Given the description of an element on the screen output the (x, y) to click on. 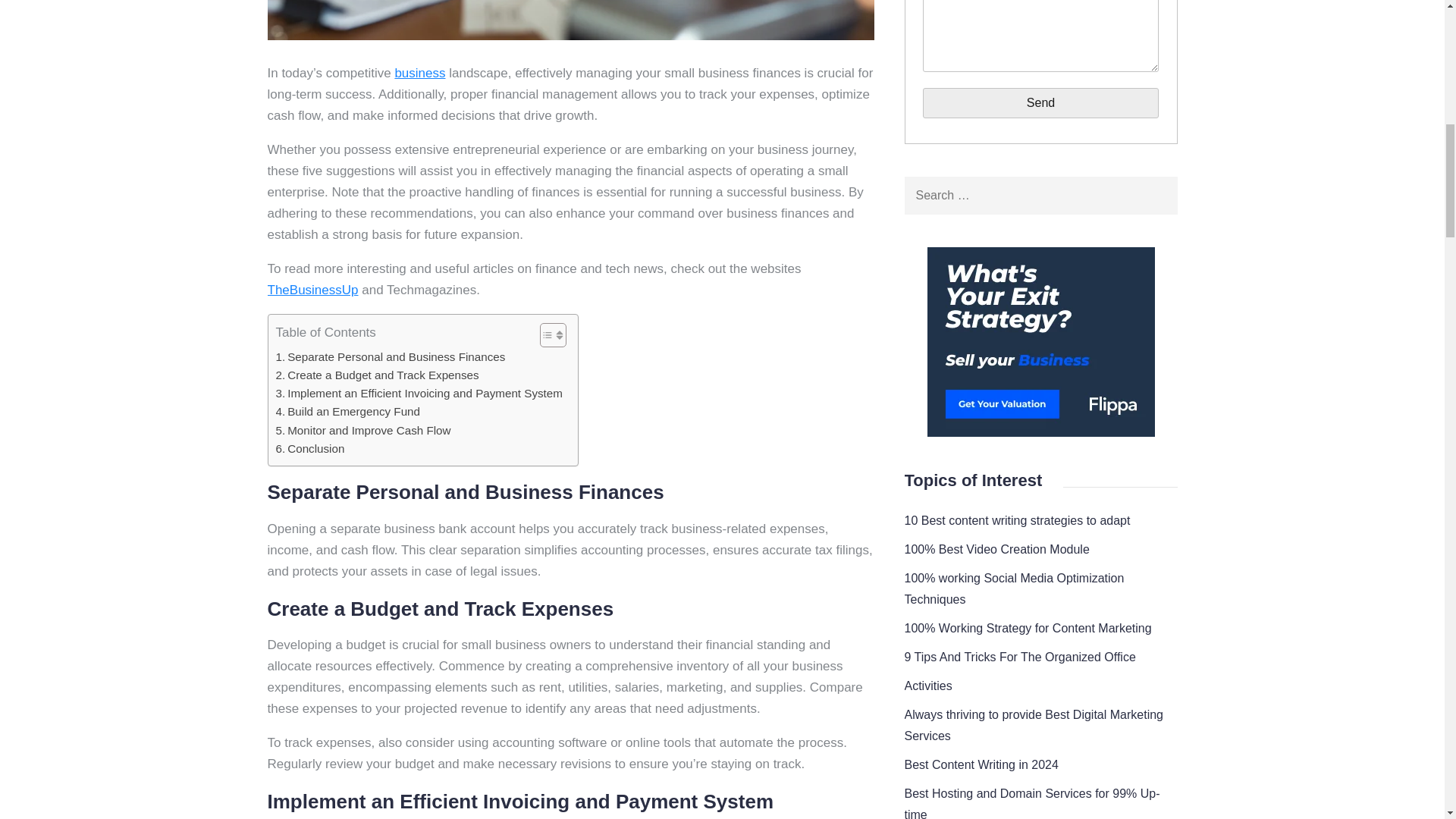
Monitor and Improve Cash Flow (363, 430)
Conclusion (310, 448)
Separate Personal and Business Finances (390, 357)
Create a Budget and Track Expenses (377, 375)
business (419, 73)
Search (1157, 195)
Send (1040, 102)
Separate Personal and Business Finances (390, 357)
Monitor and Improve Cash Flow (363, 430)
Send (1040, 102)
